Given the description of an element on the screen output the (x, y) to click on. 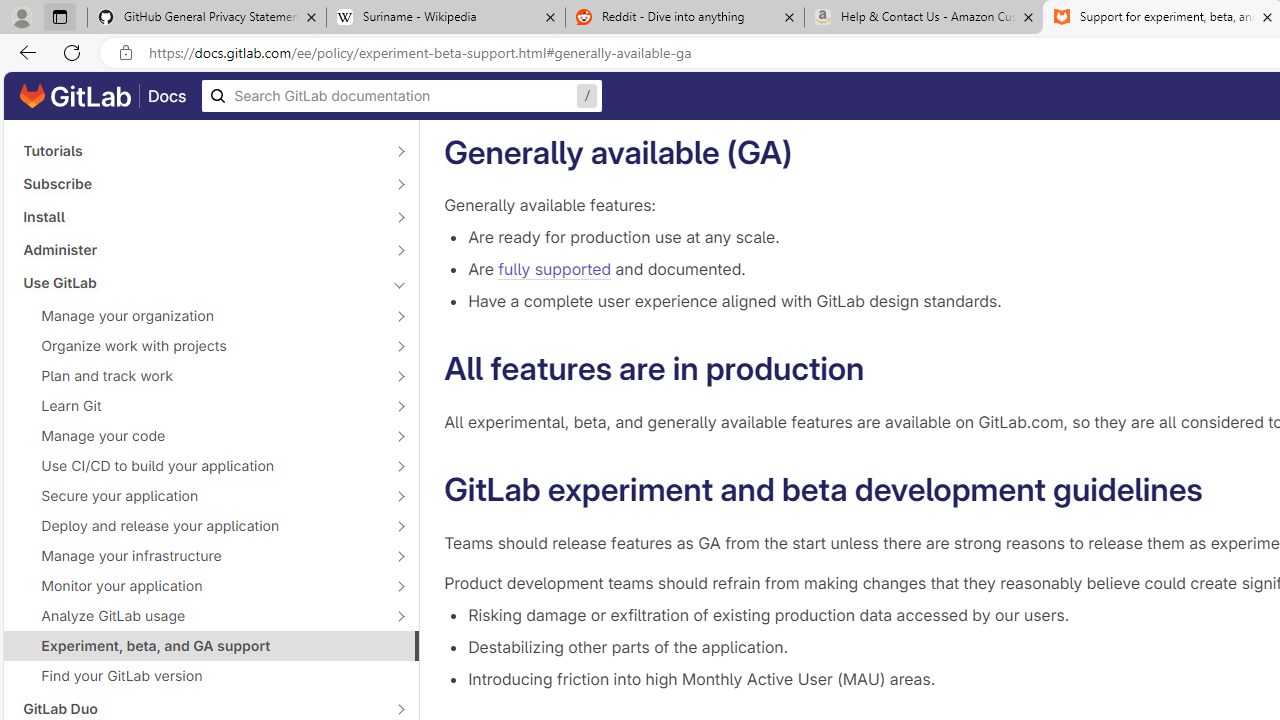
/ (402, 95)
Find your GitLab version (211, 675)
Suriname - Wikipedia (445, 17)
Permalink (1222, 489)
Learn Git (199, 405)
Use GitLab (199, 282)
Manage your infrastructure (199, 555)
GitLab documentation home Docs (103, 96)
Manage your organization (199, 315)
Use CI/CD to build your application (199, 465)
Tutorials (199, 151)
Help & Contact Us - Amazon Customer Service - Sleeping (924, 17)
